Given the description of an element on the screen output the (x, y) to click on. 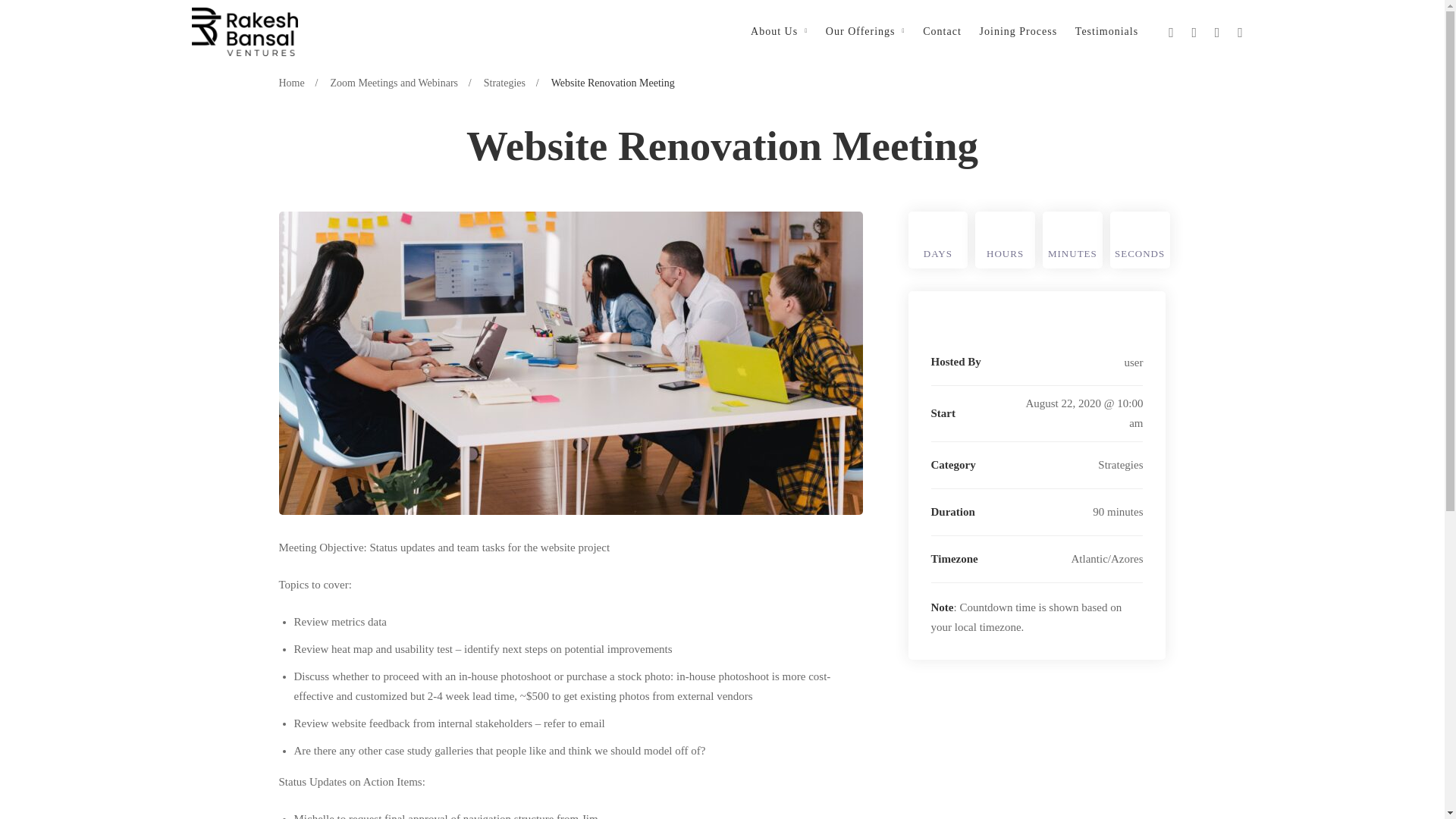
Zoom Meetings and Webinars (394, 82)
Our Offerings (865, 31)
About Us (778, 31)
Home (291, 82)
Joining Process (1018, 31)
Testimonials (1106, 31)
Strategies (504, 82)
